Given the description of an element on the screen output the (x, y) to click on. 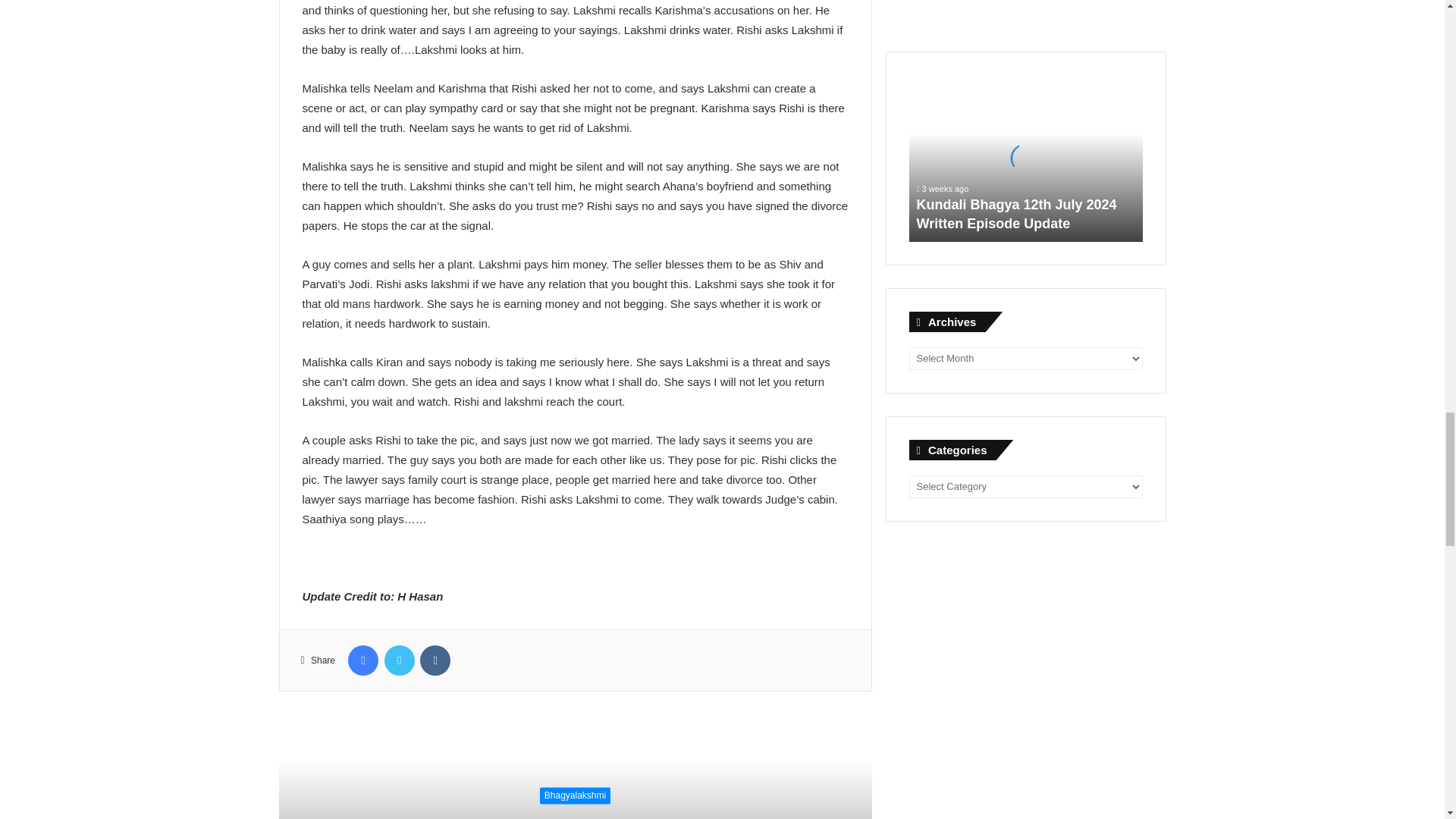
Facebook (362, 660)
Kundali Bhagya 12th July 2024 Written Episode Update (1016, 213)
Kundali Bhagya 12th July 2024 Written Episode Update (1025, 157)
Twitter (399, 660)
VKontakte (434, 660)
